Given the description of an element on the screen output the (x, y) to click on. 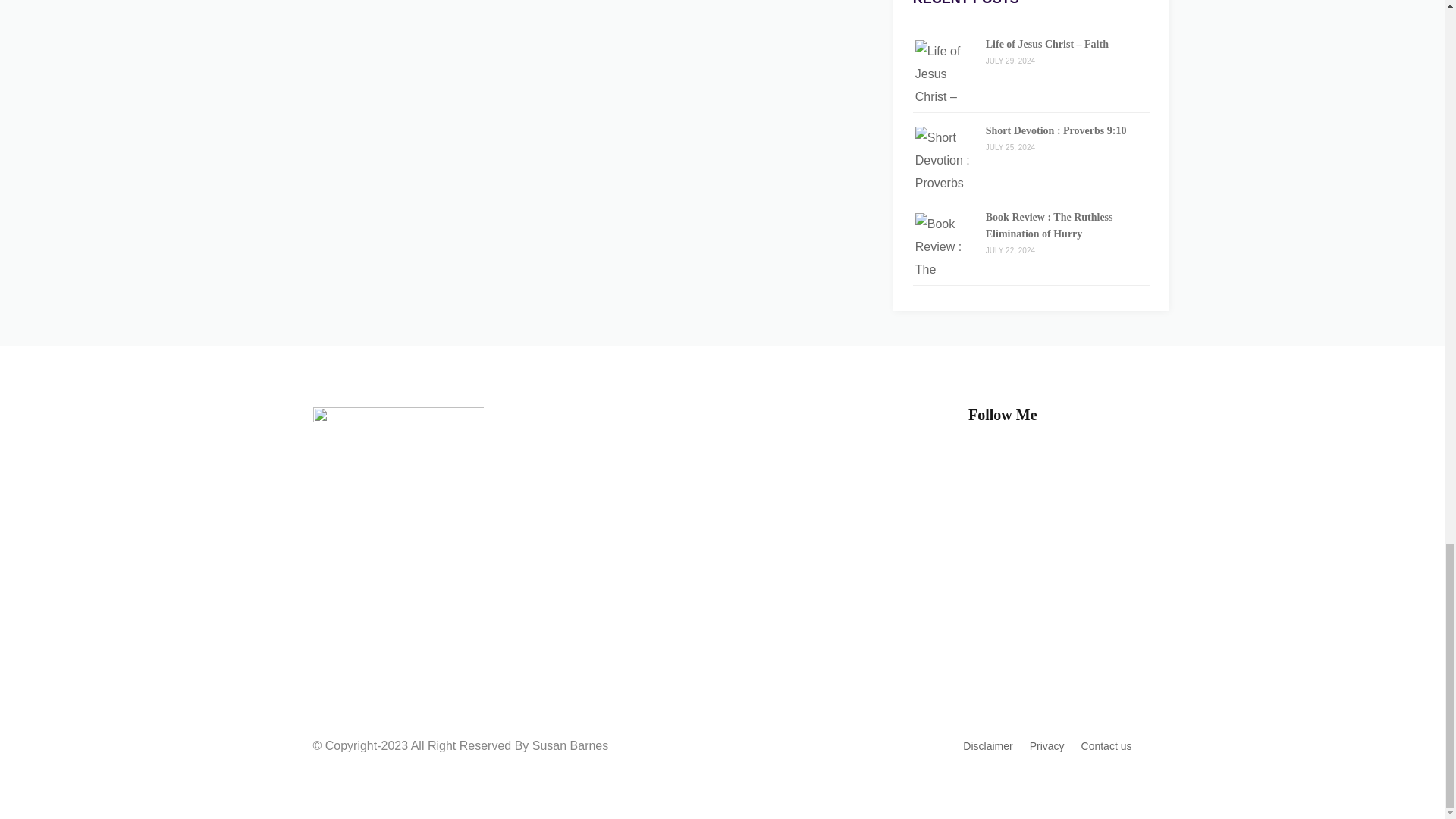
Follow on Facebook (1031, 464)
Follow on Goodreads (1061, 464)
